Given the description of an element on the screen output the (x, y) to click on. 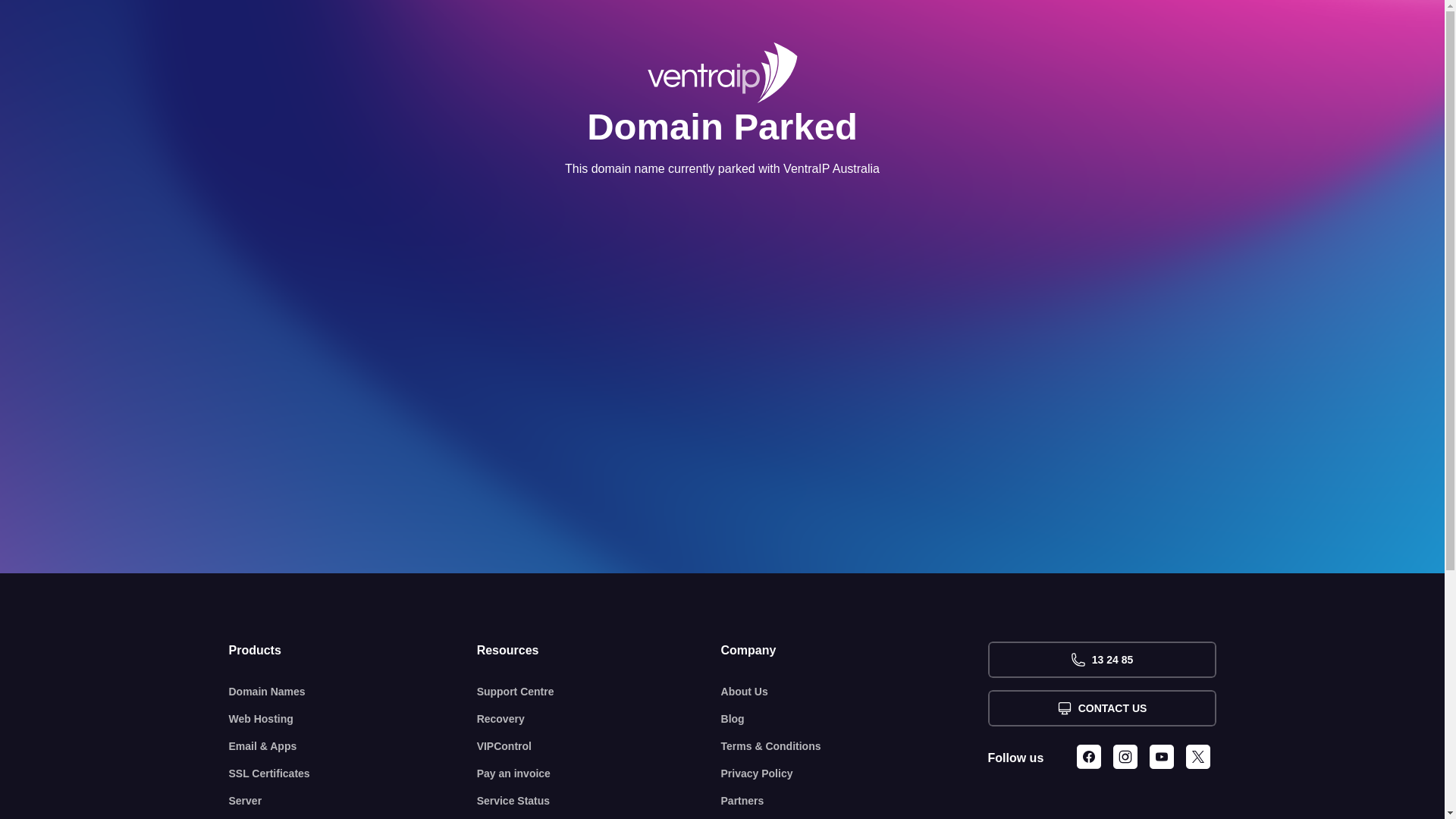
Pay an invoice Element type: text (598, 773)
About Us Element type: text (854, 691)
Recovery Element type: text (598, 718)
13 24 85 Element type: text (1101, 659)
Email & Apps Element type: text (352, 745)
Service Status Element type: text (598, 800)
Support Centre Element type: text (598, 691)
Web Hosting Element type: text (352, 718)
Server Element type: text (352, 800)
Terms & Conditions Element type: text (854, 745)
VIPControl Element type: text (598, 745)
Domain Names Element type: text (352, 691)
SSL Certificates Element type: text (352, 773)
Blog Element type: text (854, 718)
Privacy Policy Element type: text (854, 773)
Partners Element type: text (854, 800)
CONTACT US Element type: text (1101, 708)
